Given the description of an element on the screen output the (x, y) to click on. 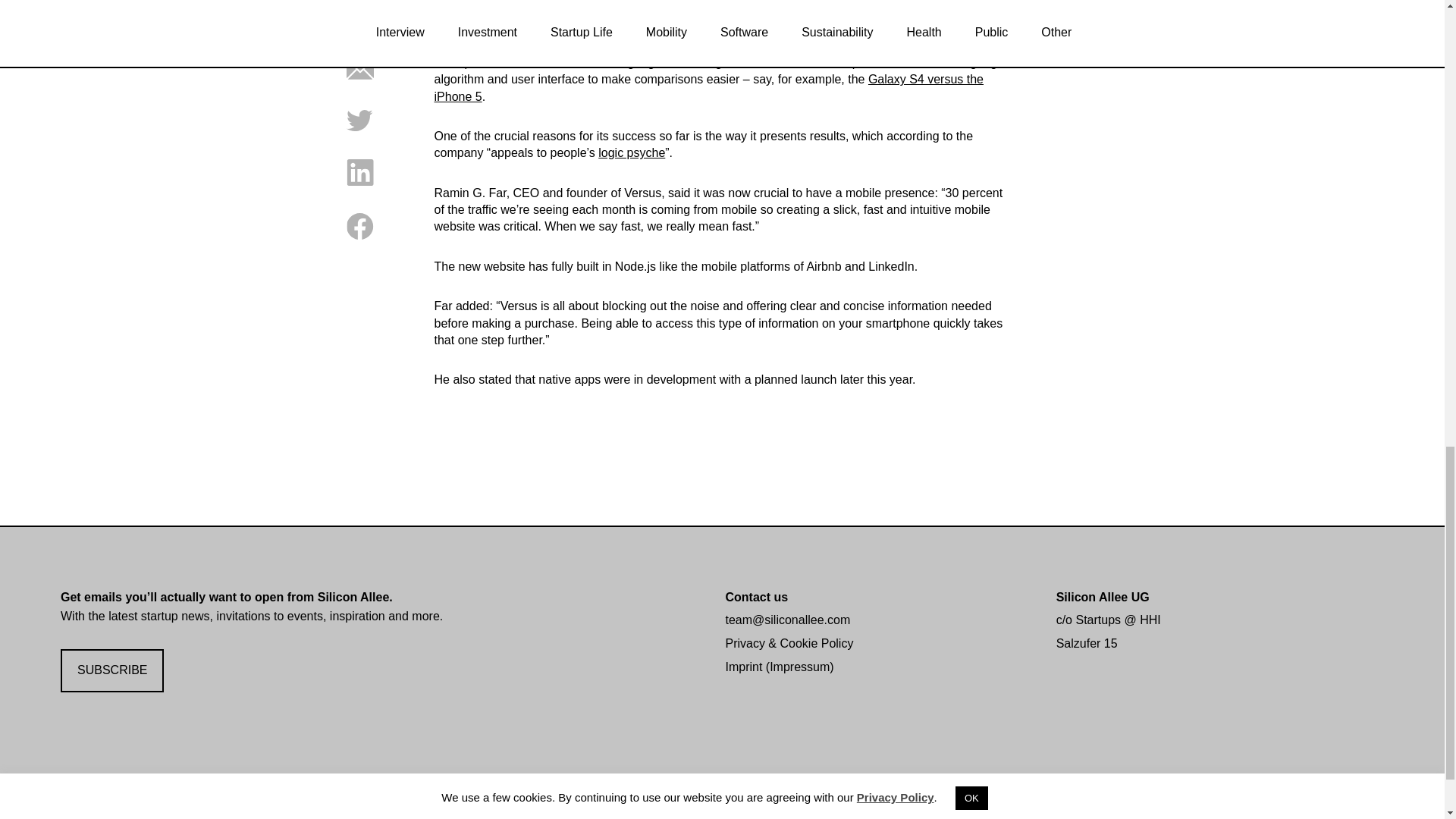
Galaxy S4 versus the iPhone 5 (708, 87)
Contact us (756, 596)
Salzufer 15 (1087, 643)
logic psyche (631, 152)
Dave McClure (662, 6)
SUBSCRIBE (112, 670)
Silicon Allee UG (1103, 596)
